Given the description of an element on the screen output the (x, y) to click on. 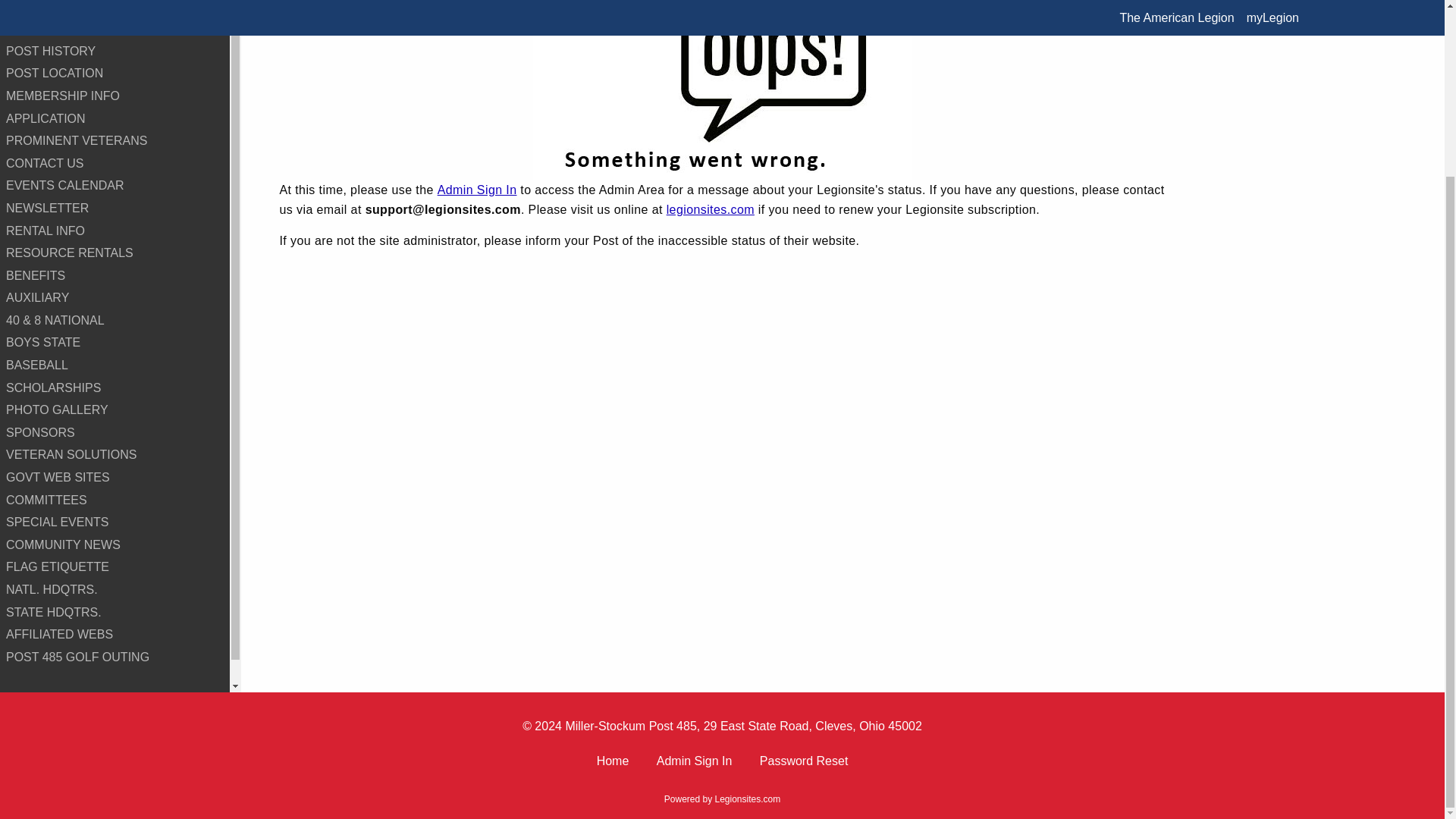
VETERAN SOLUTIONS (115, 454)
NEWSLETTER (115, 208)
Oops (721, 90)
COMMUNITY NEWS (115, 544)
SCHOLARSHIPS (115, 387)
NATL. HDQTRS. (115, 589)
STATE HDQTRS. (115, 612)
EVENTS CALENDAR (115, 185)
COMMITTEES (115, 499)
WHY JOIN (115, 9)
SPECIAL EVENTS (115, 522)
AUXILIARY (115, 297)
CONTACT US (115, 163)
FLAG ETIQUETTE (115, 567)
AFFILIATED WEBS (115, 634)
